Given the description of an element on the screen output the (x, y) to click on. 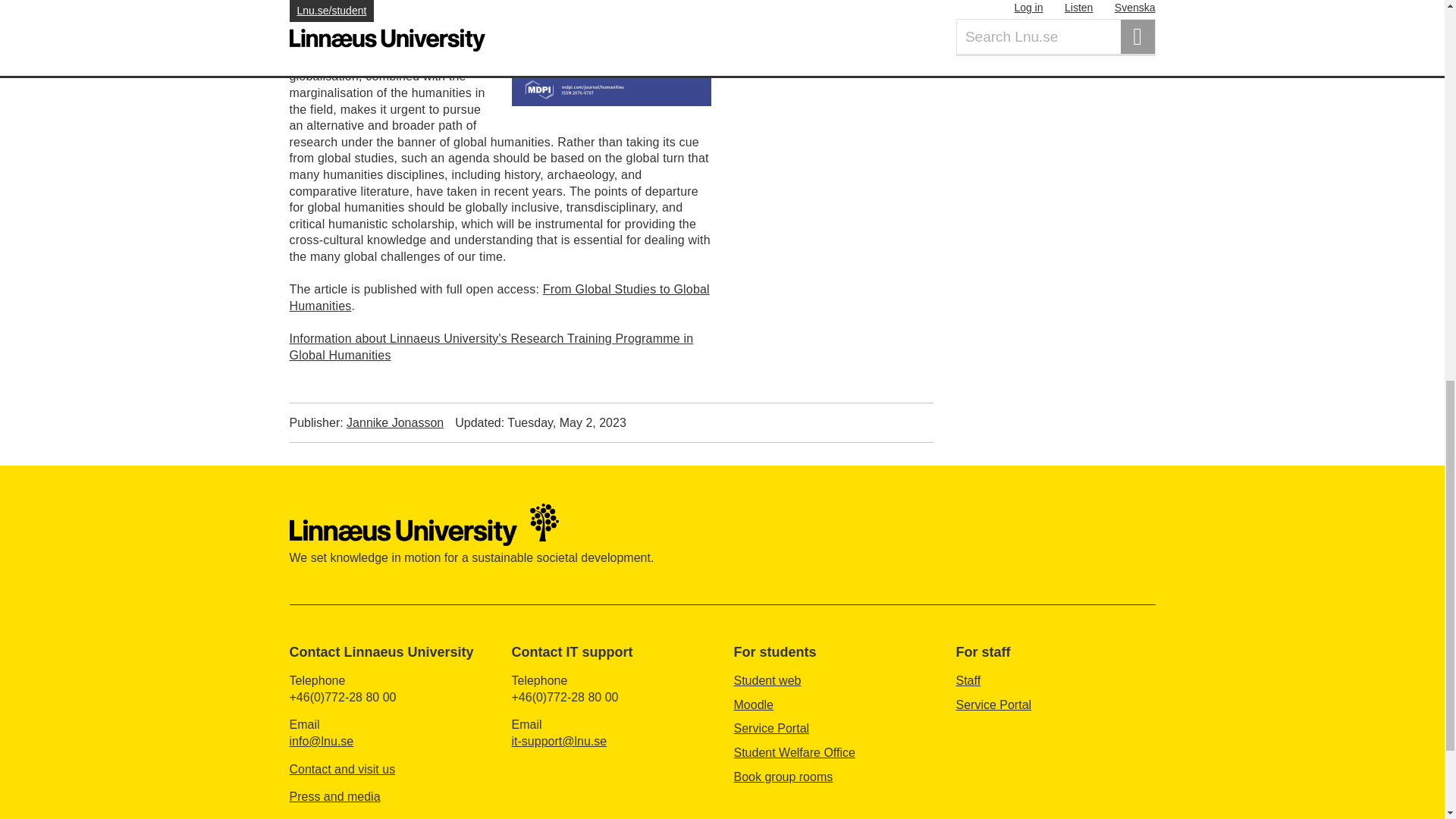
Updated (540, 422)
Jannike Jonasson (395, 422)
Publisher (366, 422)
Student Welfare Office (794, 752)
From Global Studies to Global Humanities (499, 297)
